Given the description of an element on the screen output the (x, y) to click on. 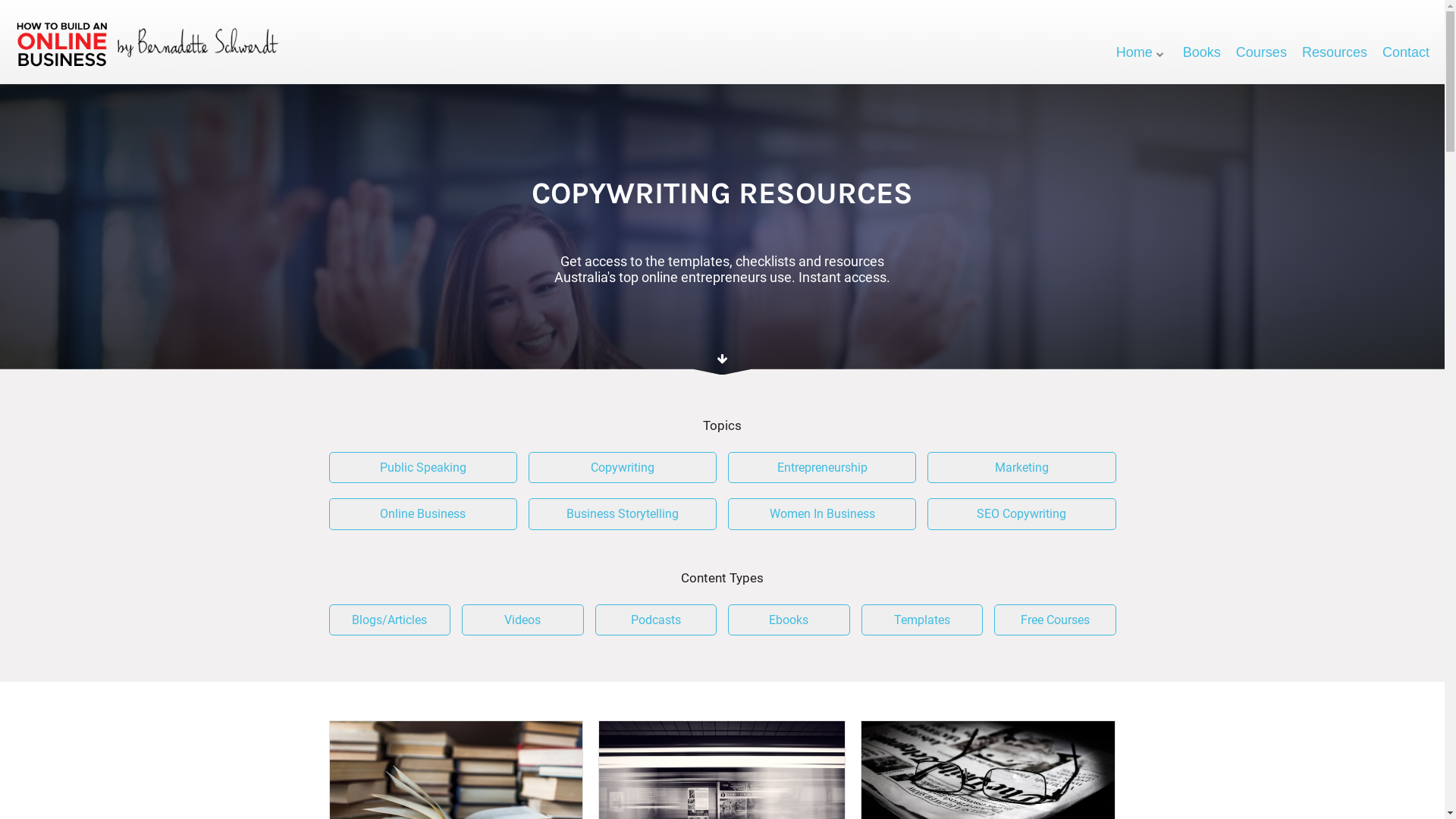
Copywriting Element type: text (622, 467)
Templates Element type: text (922, 620)
Ebooks Element type: text (789, 620)
Books Element type: text (1201, 52)
Podcasts Element type: text (655, 620)
Business Storytelling Element type: text (622, 514)
Home Element type: text (1141, 52)
Blogs/Articles Element type: text (390, 620)
Marketing Element type: text (1021, 467)
Entrepreneurship Element type: text (822, 467)
Videos Element type: text (522, 620)
Contact Element type: text (1405, 52)
Free Courses Element type: text (1055, 620)
Public Speaking Element type: text (423, 467)
Courses Element type: text (1261, 52)
Women In Business Element type: text (822, 514)
Resources Element type: text (1334, 52)
Online Business Element type: text (423, 514)
SEO Copywriting Element type: text (1021, 514)
